Given the description of an element on the screen output the (x, y) to click on. 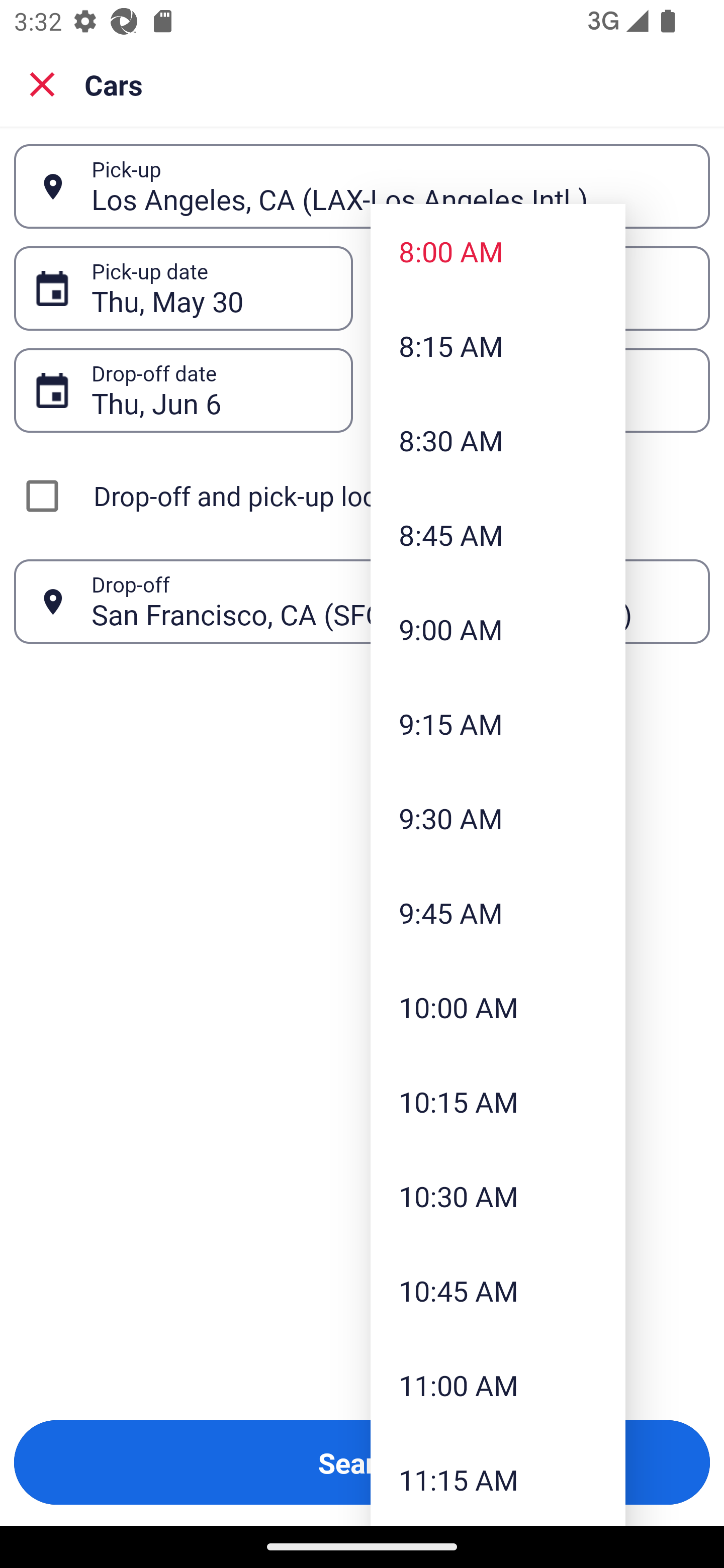
8:00 AM (497, 250)
8:15 AM (497, 345)
8:30 AM (497, 440)
8:45 AM (497, 534)
9:00 AM (497, 628)
9:15 AM (497, 723)
9:30 AM (497, 818)
9:45 AM (497, 912)
10:00 AM (497, 1006)
10:15 AM (497, 1101)
10:30 AM (497, 1196)
10:45 AM (497, 1290)
11:00 AM (497, 1384)
11:15 AM (497, 1478)
